Given the description of an element on the screen output the (x, y) to click on. 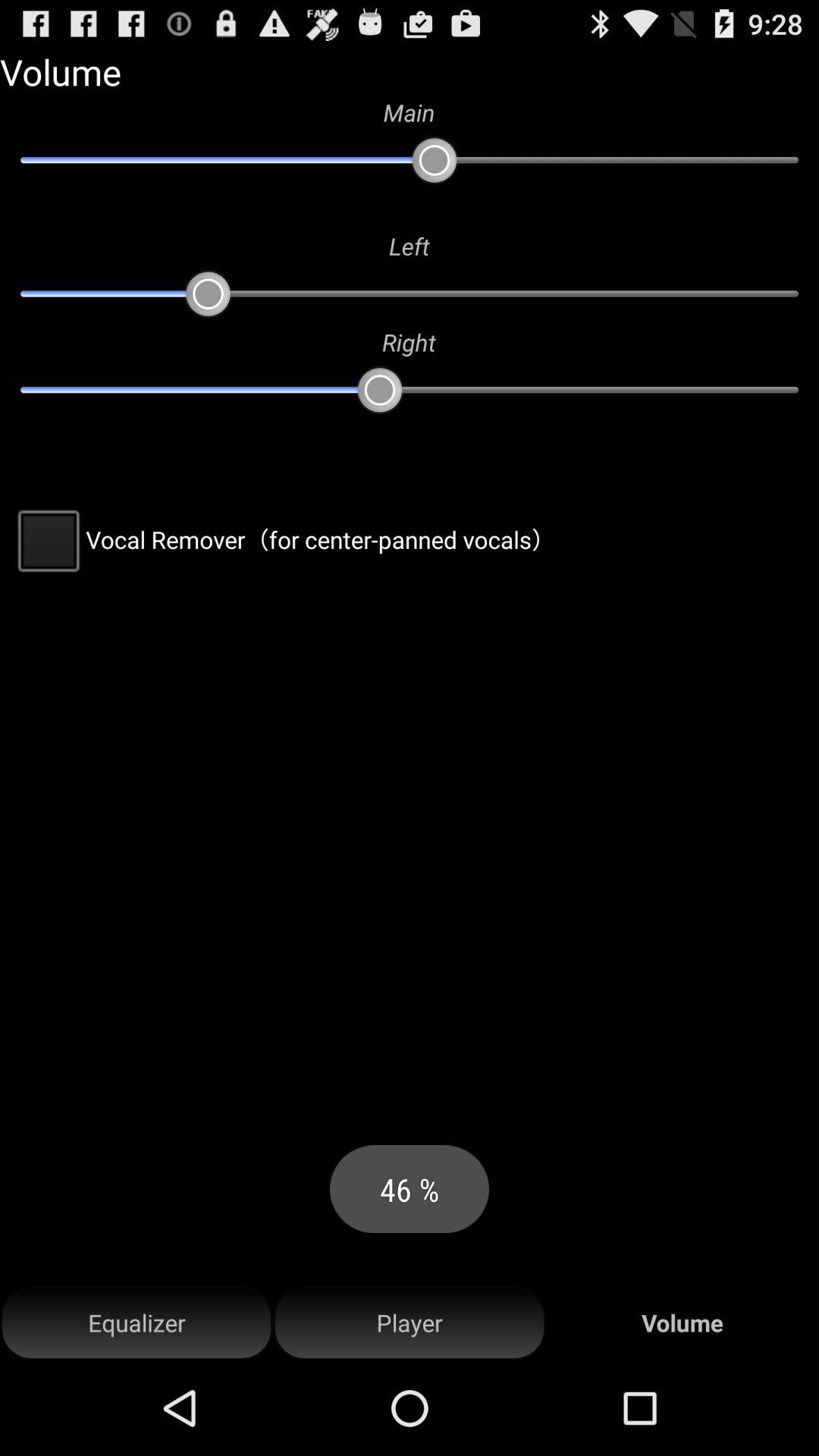
open the vocal remover for icon (282, 539)
